Given the description of an element on the screen output the (x, y) to click on. 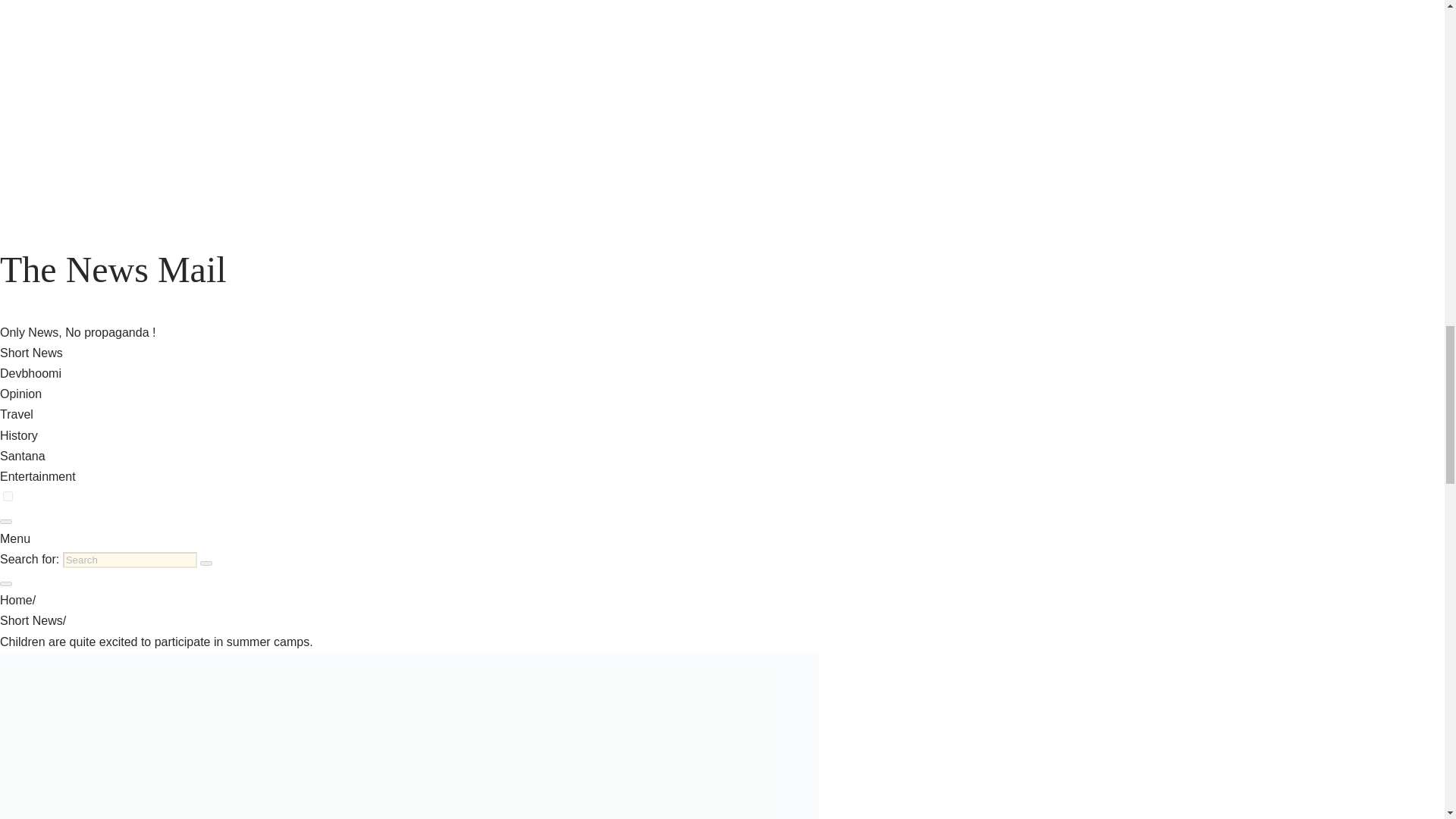
Search for: (129, 560)
on (7, 496)
